Given the description of an element on the screen output the (x, y) to click on. 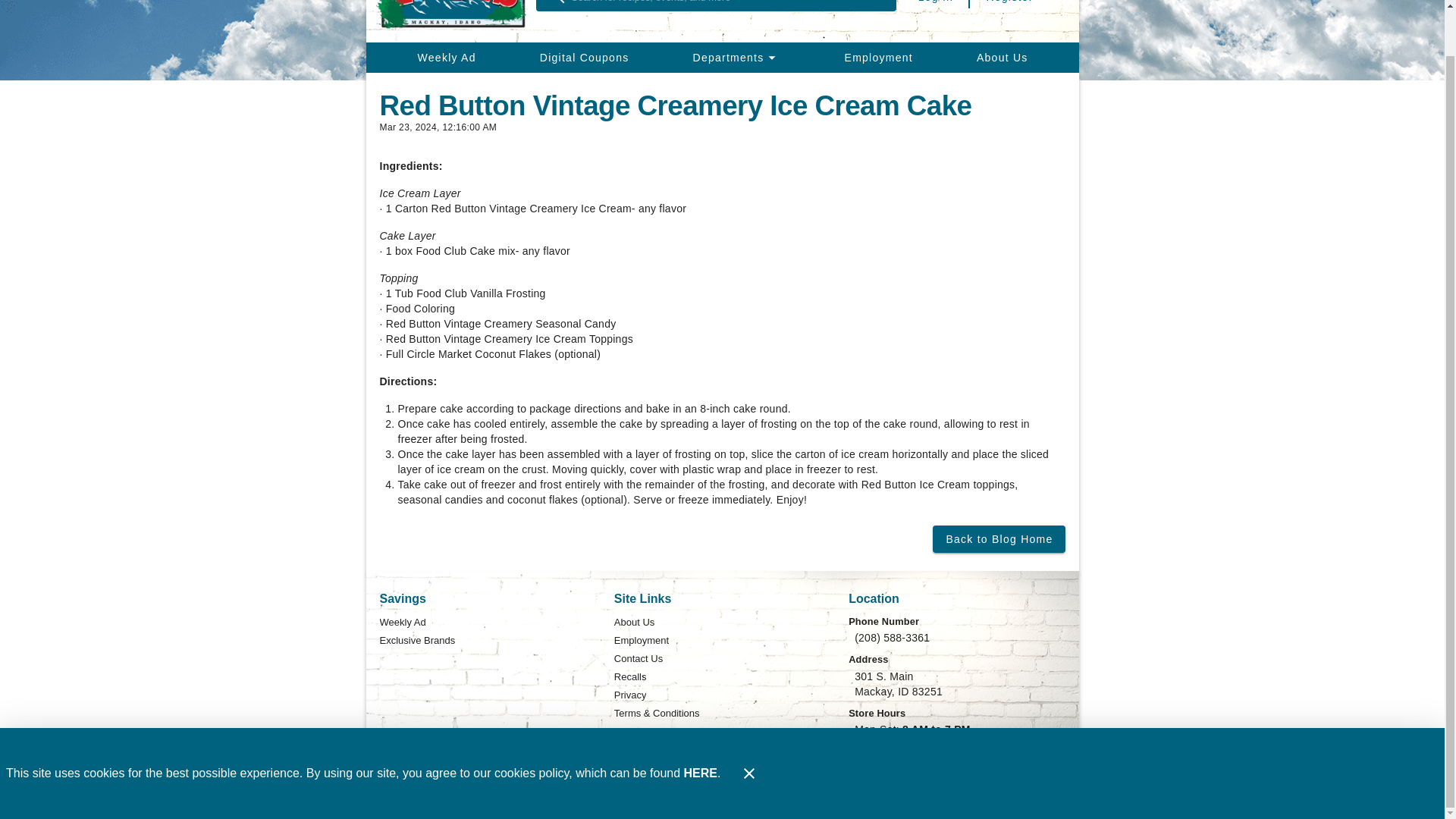
Log In (935, 5)
Exclusive Brands (416, 640)
Contact Us (638, 659)
Administration (1035, 806)
About Us (1002, 57)
Employment (877, 57)
Privacy (630, 695)
Weekly Ad (401, 622)
Register (1008, 5)
Departments (735, 57)
Back to Blog Home (998, 538)
Digital Coupons (584, 57)
Employment (641, 640)
Recalls (630, 677)
Weekly Ad (445, 57)
